Given the description of an element on the screen output the (x, y) to click on. 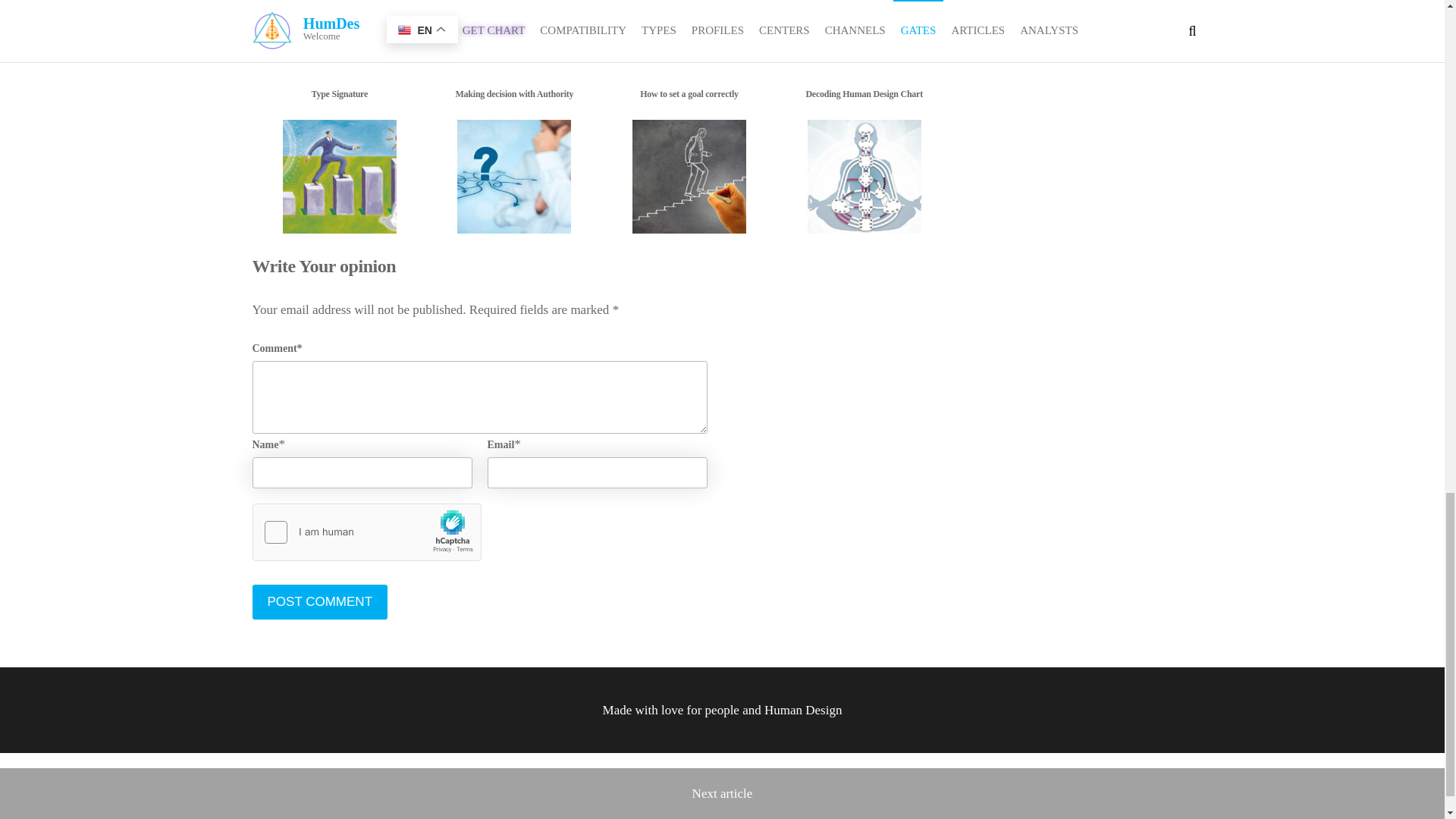
POST COMMENT (319, 601)
